Given the description of an element on the screen output the (x, y) to click on. 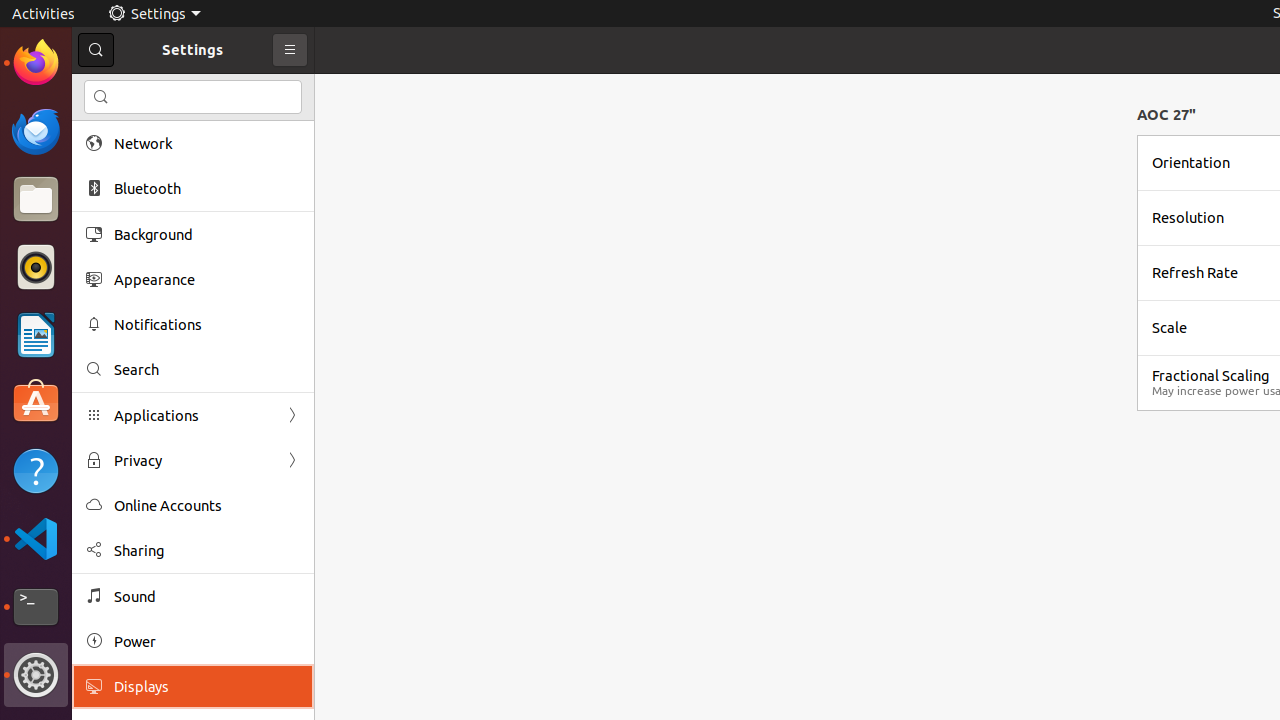
Background Element type: label (207, 234)
Trash Element type: label (133, 191)
Settings Element type: menu (154, 13)
Scale Element type: label (1169, 327)
